Given the description of an element on the screen output the (x, y) to click on. 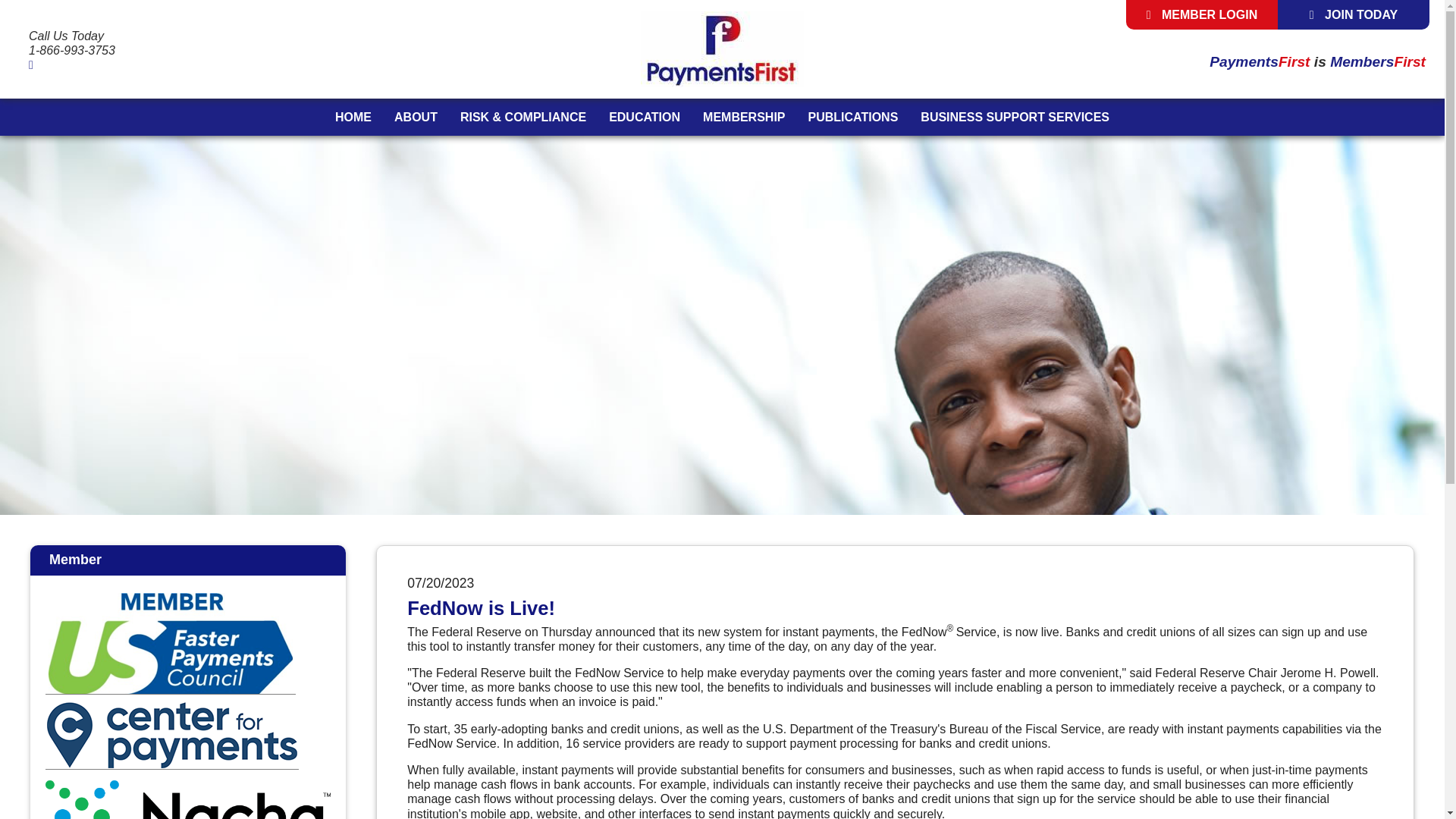
ABOUT (415, 116)
MEMBER LOGIN (1201, 14)
JOIN TODAY (1353, 14)
PUBLICATIONS (853, 116)
MEMBERSHIP (743, 116)
HOME (352, 116)
EDUCATION (643, 116)
